Given the description of an element on the screen output the (x, y) to click on. 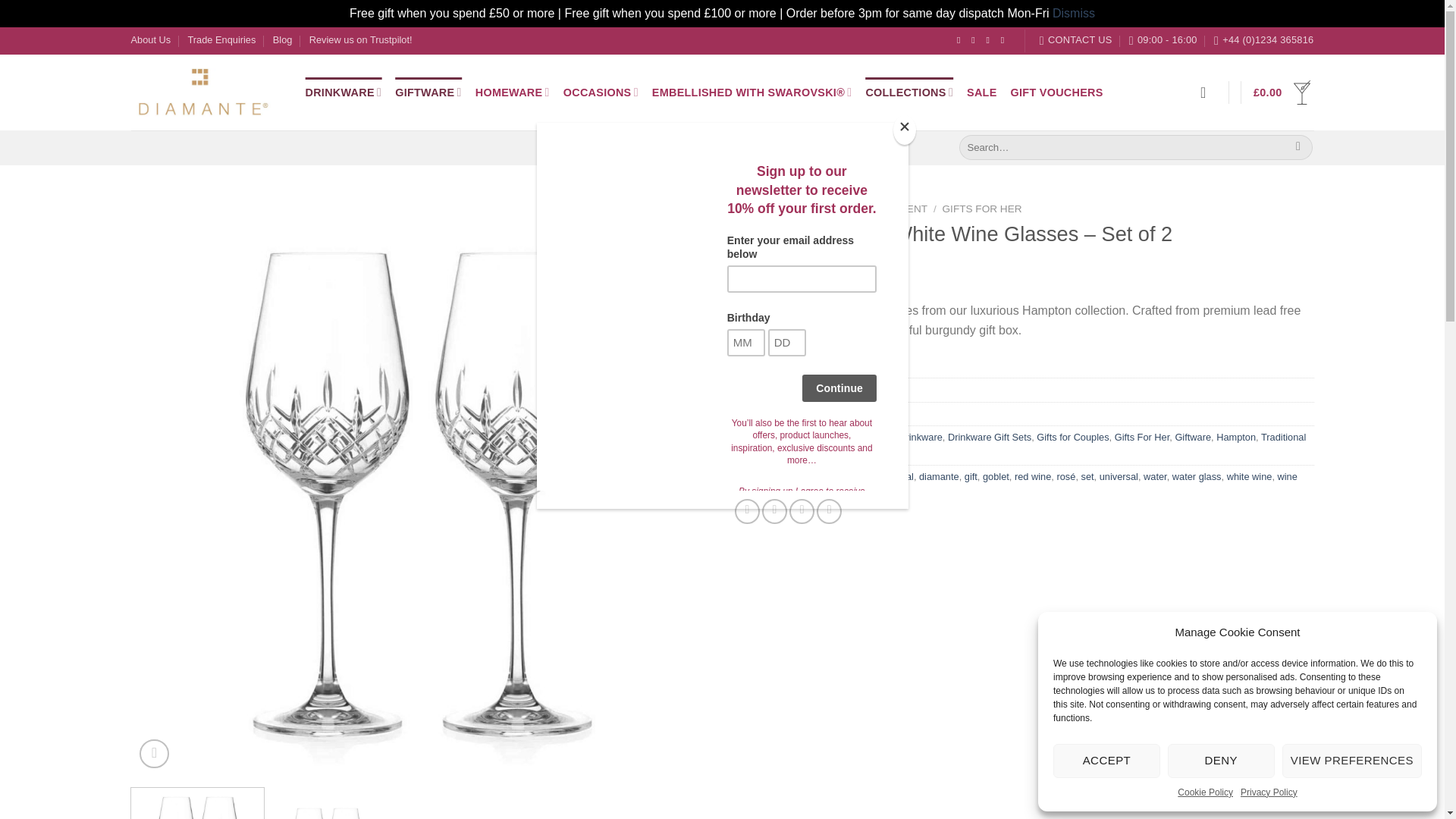
ACCEPT (1106, 760)
Privacy Policy (1268, 792)
Trade Enquiries (221, 39)
Review us on Trustpilot! (360, 39)
CONTACT US (1075, 39)
VIEW PREFERENCES (1352, 760)
DENY (1221, 760)
09:00 - 16:00 (1162, 39)
Basket (1283, 92)
About Us (150, 39)
Cookie Policy (1205, 792)
Dismiss (1073, 12)
DRINKWARE (342, 91)
